Given the description of an element on the screen output the (x, y) to click on. 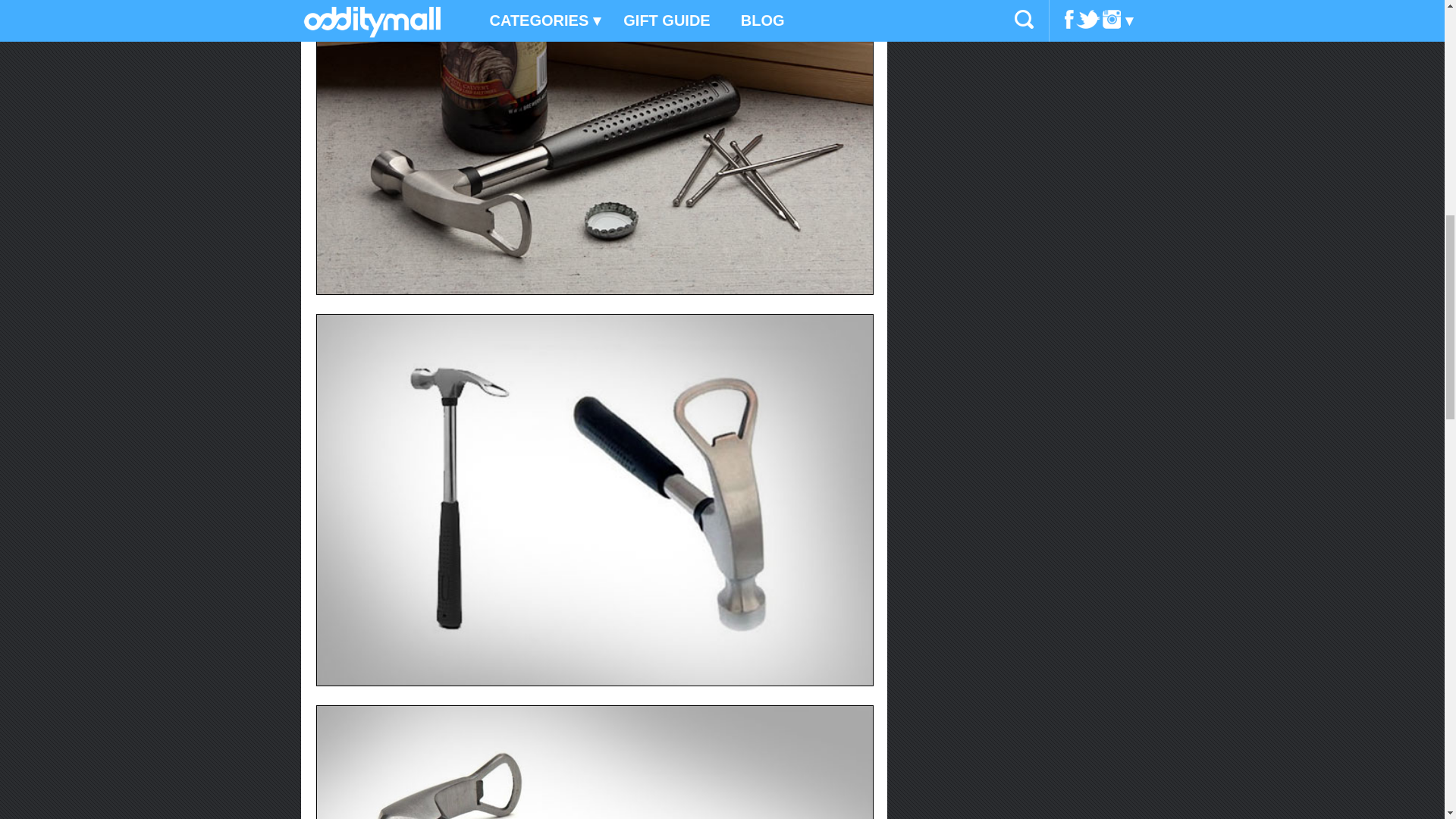
Hammer Bottle Opener (594, 762)
